Given the description of an element on the screen output the (x, y) to click on. 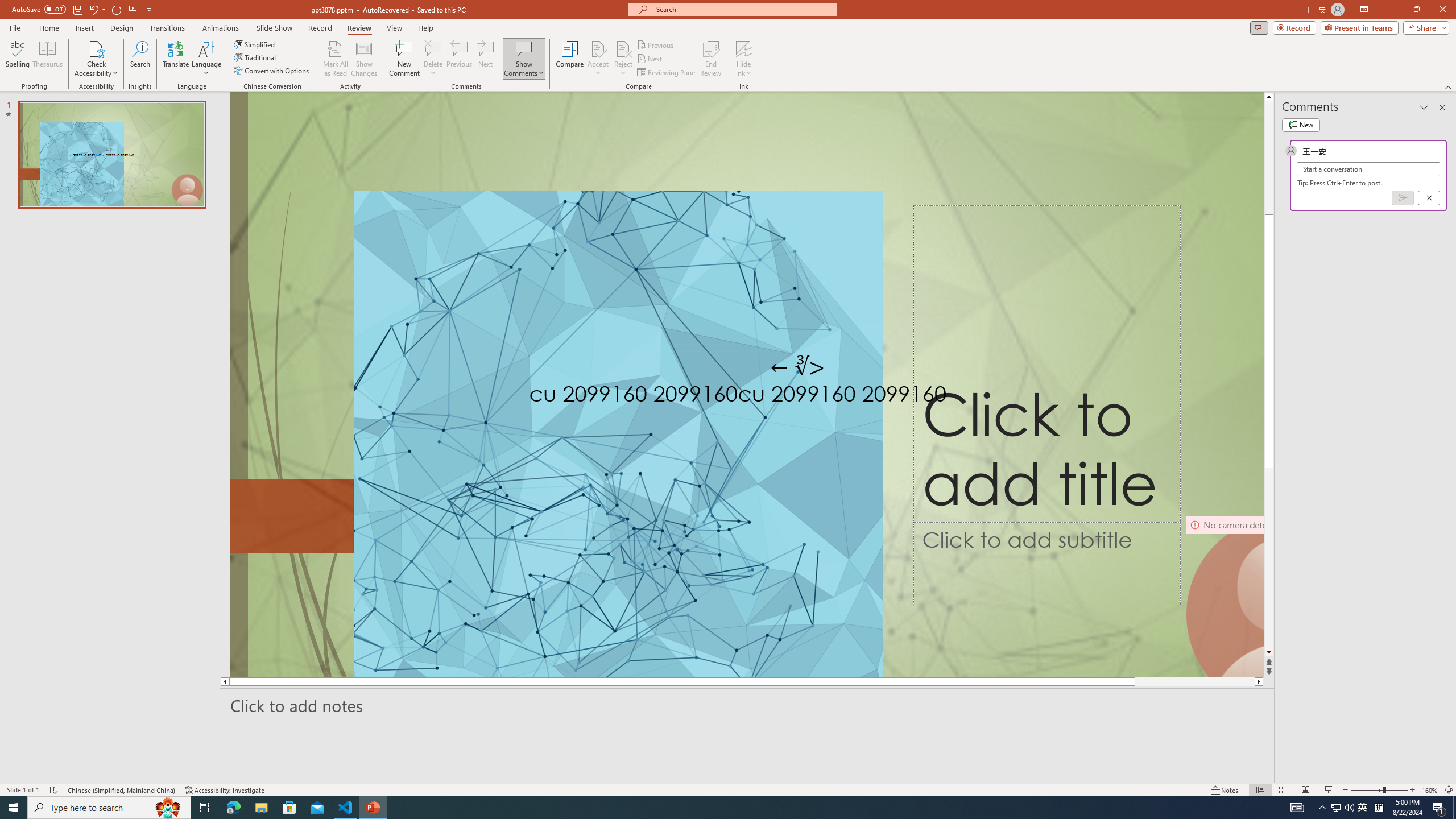
Accept (598, 58)
Zoom 160% (1430, 790)
Convert with Options... (272, 69)
New comment (1300, 124)
